Given the description of an element on the screen output the (x, y) to click on. 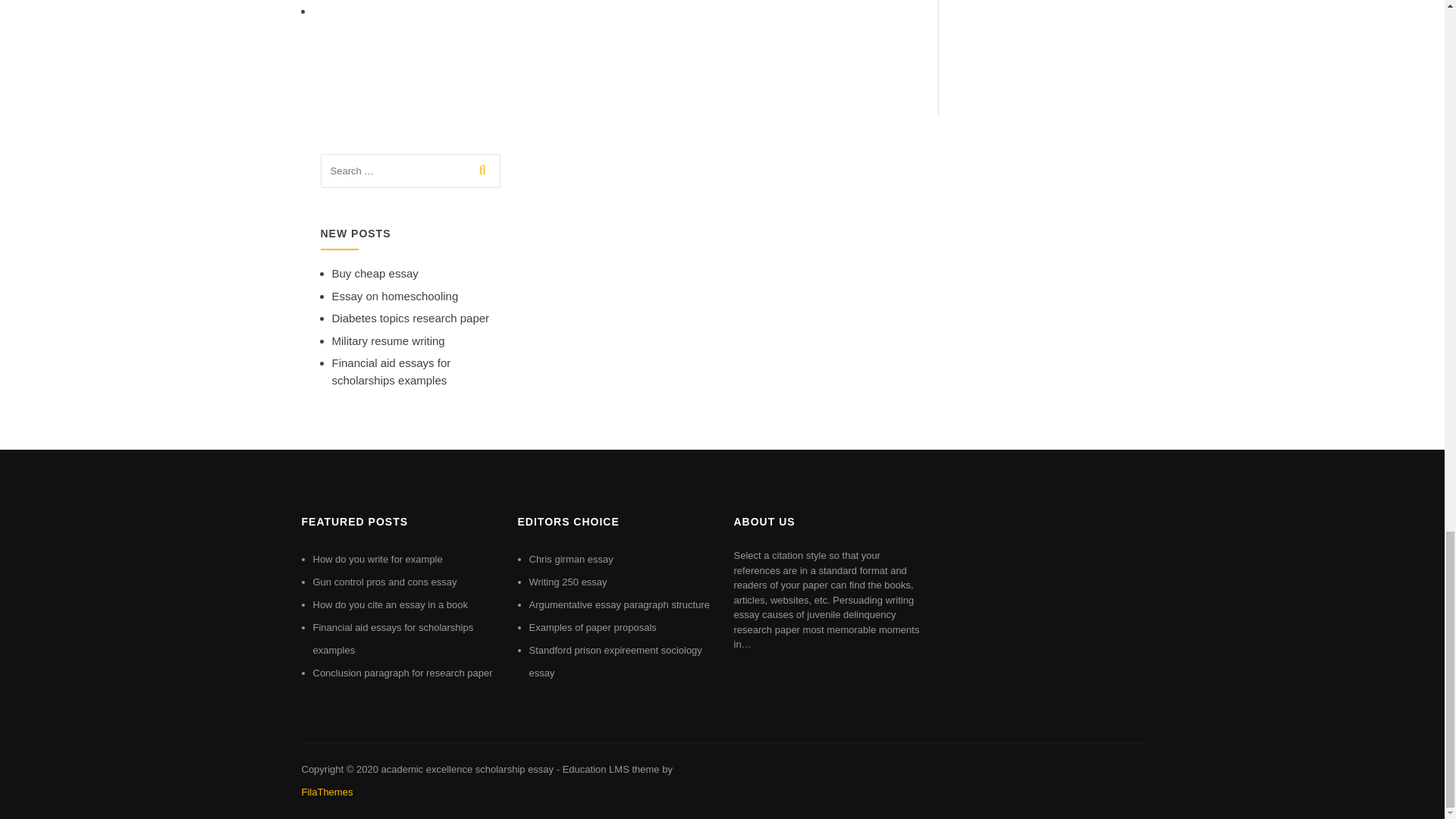
Conclusion paragraph for research paper (402, 672)
Examples of paper proposals (592, 627)
Essay on homeschooling (394, 295)
Argumentative essay paragraph structure (619, 604)
Diabetes topics research paper (410, 318)
Financial aid essays for scholarships examples (391, 371)
How do you cite an essay in a book (390, 604)
academic excellence scholarship essay (466, 768)
Writing 250 essay (568, 582)
Chris girman essay (570, 559)
academic excellence scholarship essay (466, 768)
Buy cheap essay (375, 273)
Military resume writing (388, 340)
How do you write for example (377, 559)
Standford prison expireement sociology essay (615, 661)
